Given the description of an element on the screen output the (x, y) to click on. 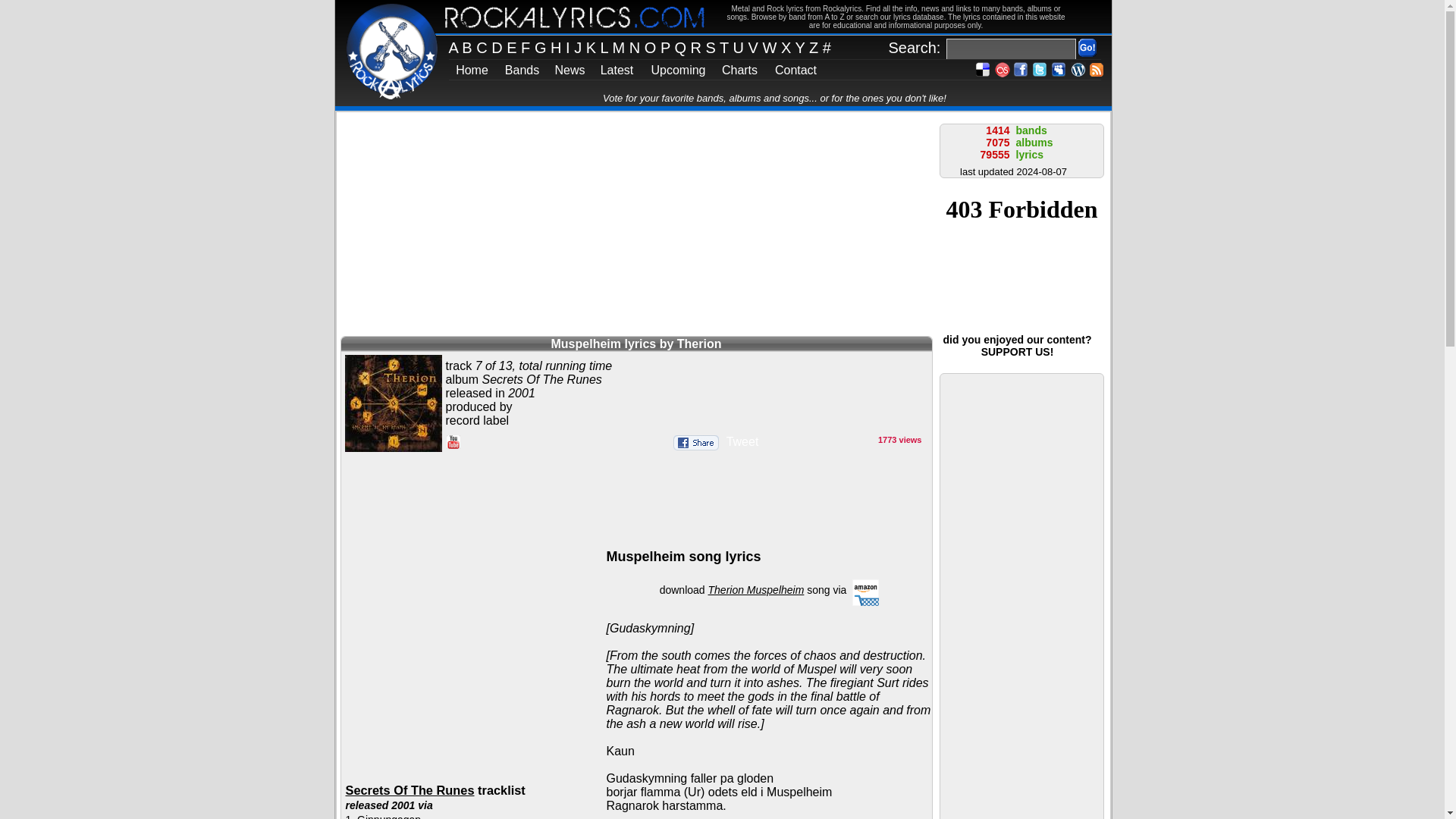
Q  (682, 47)
H  (558, 47)
bands starting with R (698, 47)
N  (636, 47)
bands starting with M (620, 47)
Charts (739, 69)
bands starting with G (542, 47)
U  (740, 47)
bands starting with Q (682, 47)
bands starting with D (499, 47)
